Given the description of an element on the screen output the (x, y) to click on. 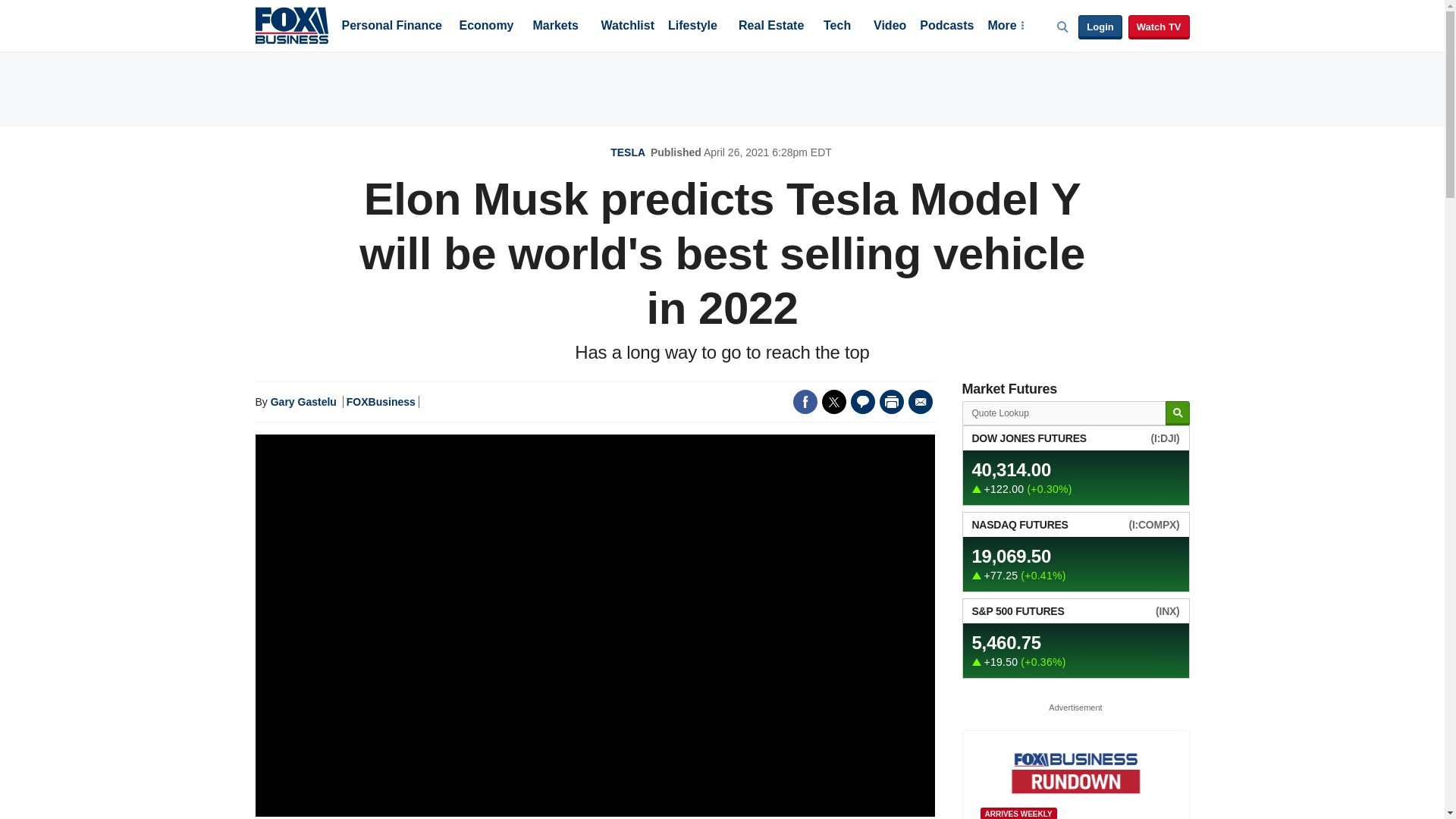
Podcasts (947, 27)
Search (1176, 413)
Lifestyle (692, 27)
Video (889, 27)
Markets (555, 27)
Personal Finance (391, 27)
Fox Business (290, 24)
Real Estate (770, 27)
Tech (837, 27)
Watch TV (1158, 27)
More (1005, 27)
Watchlist (626, 27)
Economy (486, 27)
Login (1099, 27)
Search (1176, 413)
